Given the description of an element on the screen output the (x, y) to click on. 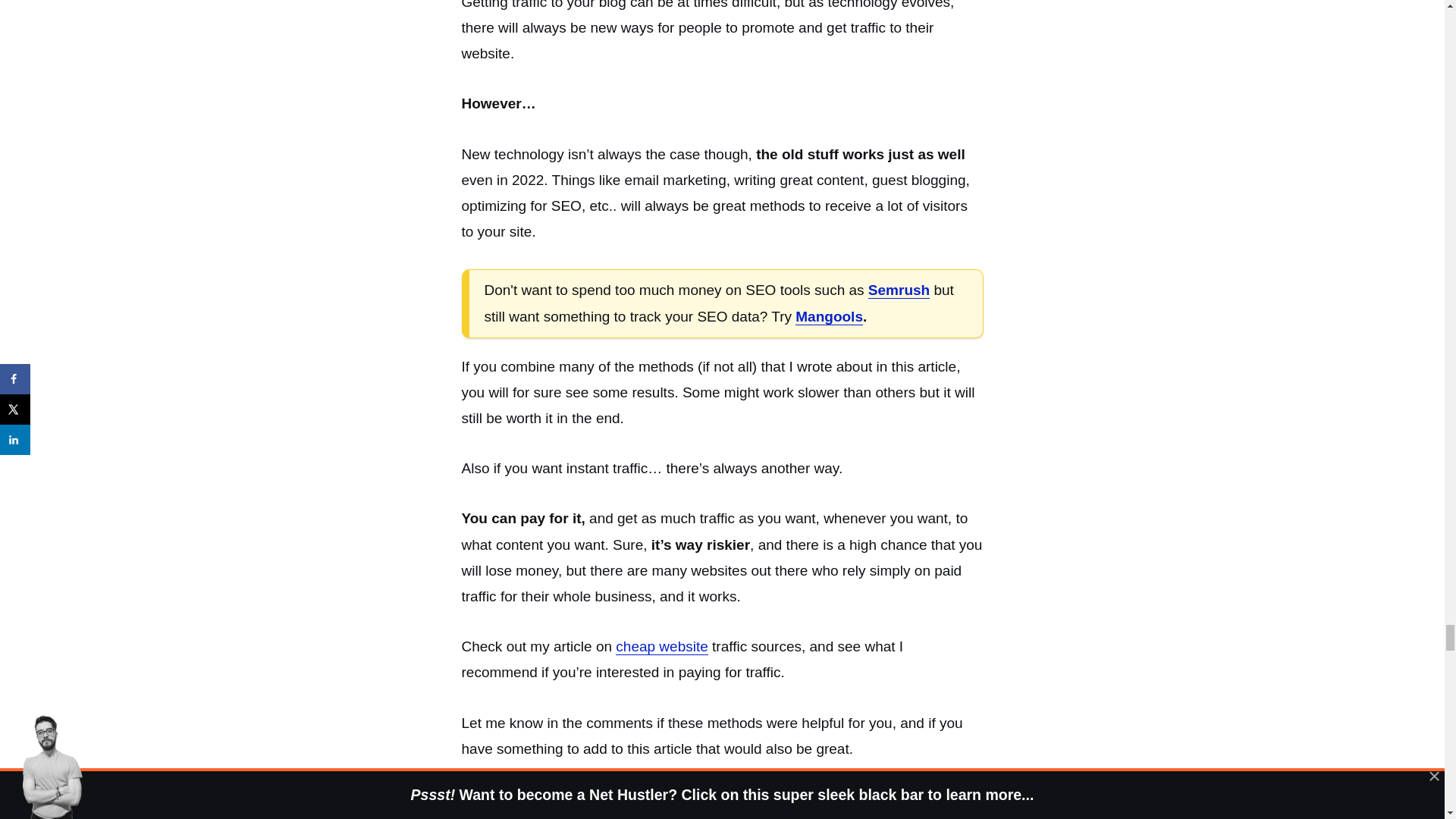
Mangools (828, 316)
cheap website (661, 646)
Semrush (898, 289)
